Given the description of an element on the screen output the (x, y) to click on. 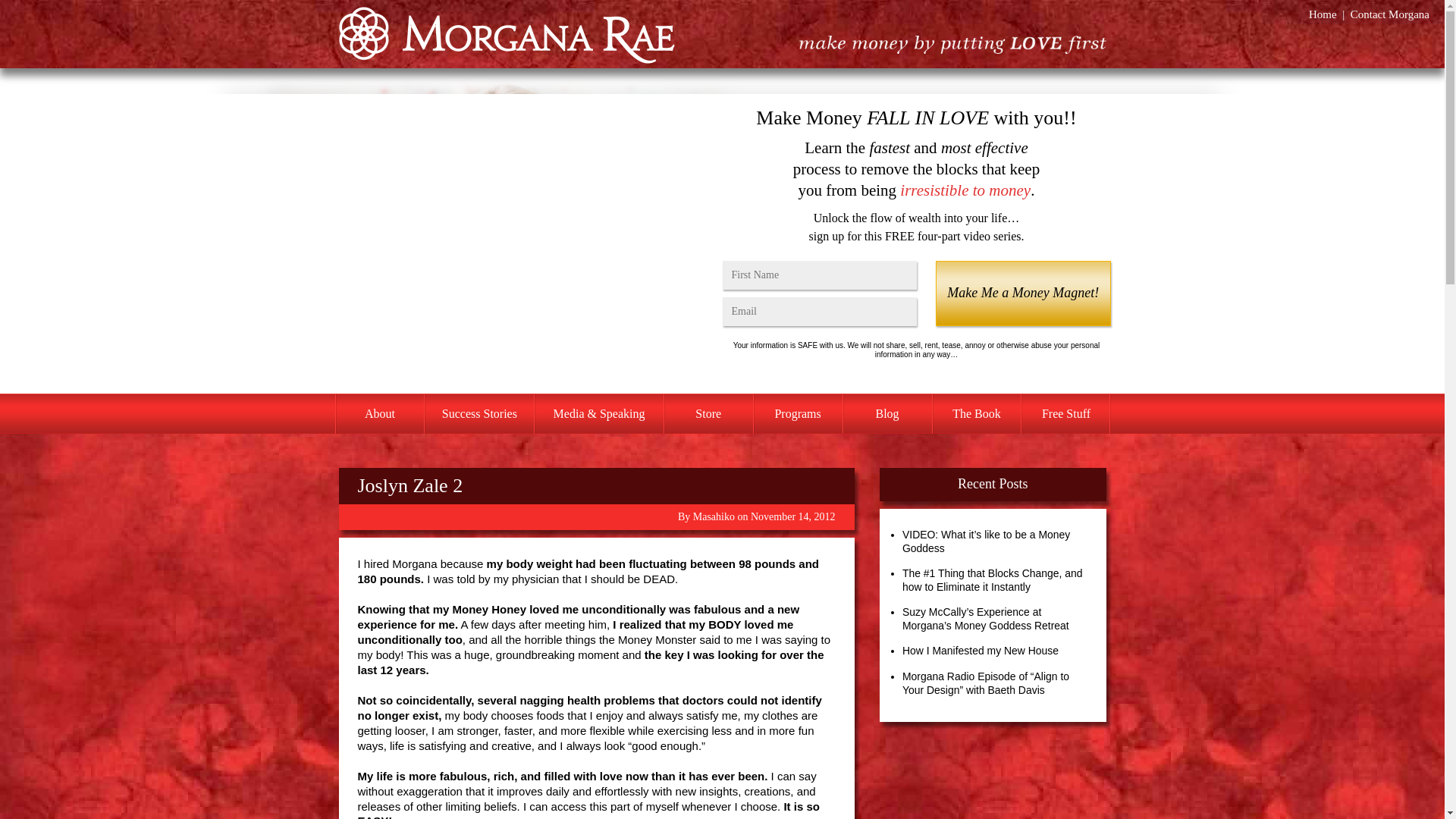
Success Stories (479, 413)
Home (1322, 14)
Make Me a Money Magnet! (1022, 293)
The Book (977, 413)
Programs (798, 413)
About (378, 413)
Contact Morgana (1390, 14)
Make Me a Money Magnet! (1022, 293)
Blog (887, 413)
Posts by Masahiko (714, 516)
